Given the description of an element on the screen output the (x, y) to click on. 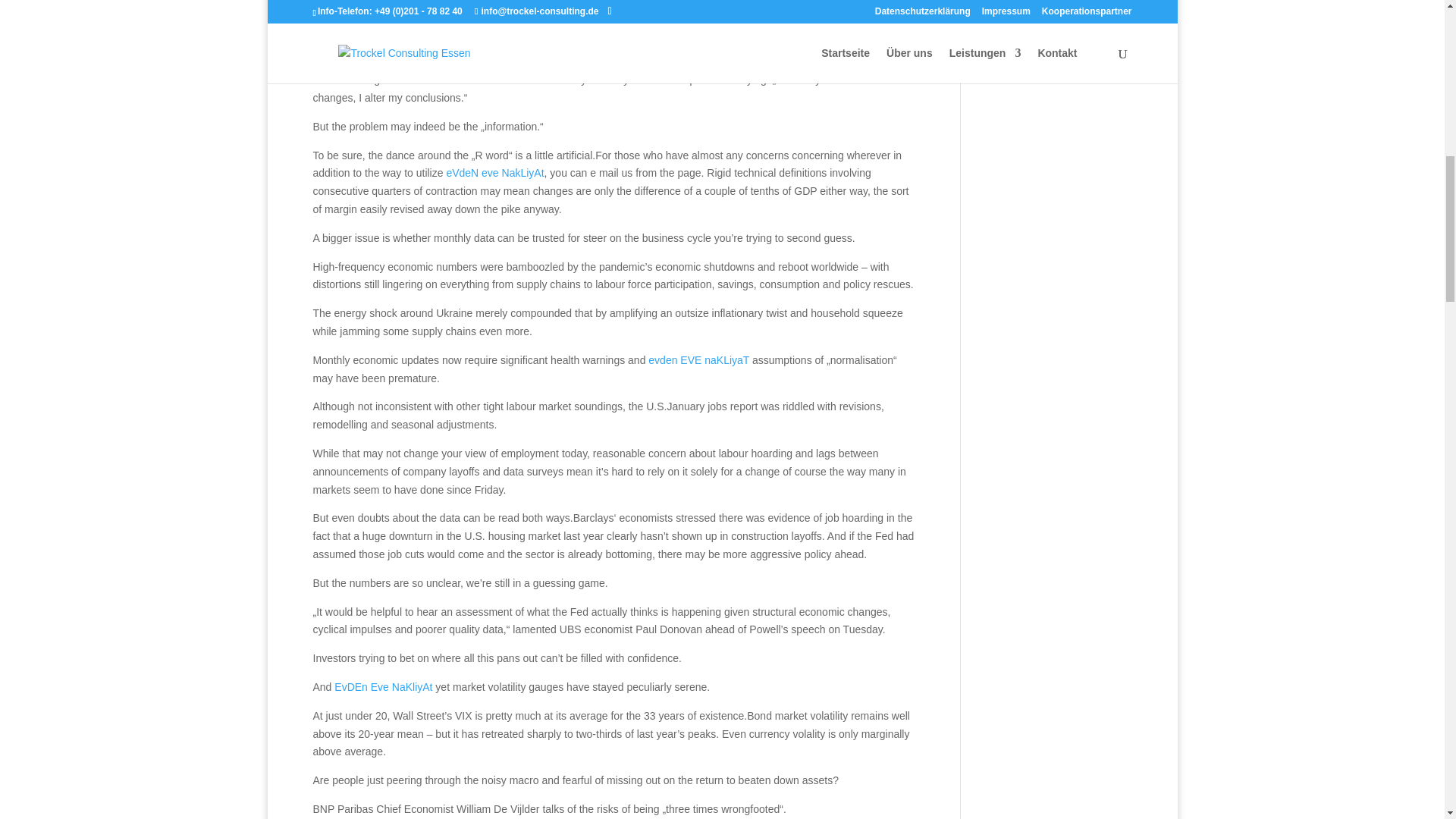
eVdeN eve NakLiyAt (494, 173)
evden EVE naKLiyaT (698, 359)
EvDEn Eve NaKliyAt (383, 686)
